Given the description of an element on the screen output the (x, y) to click on. 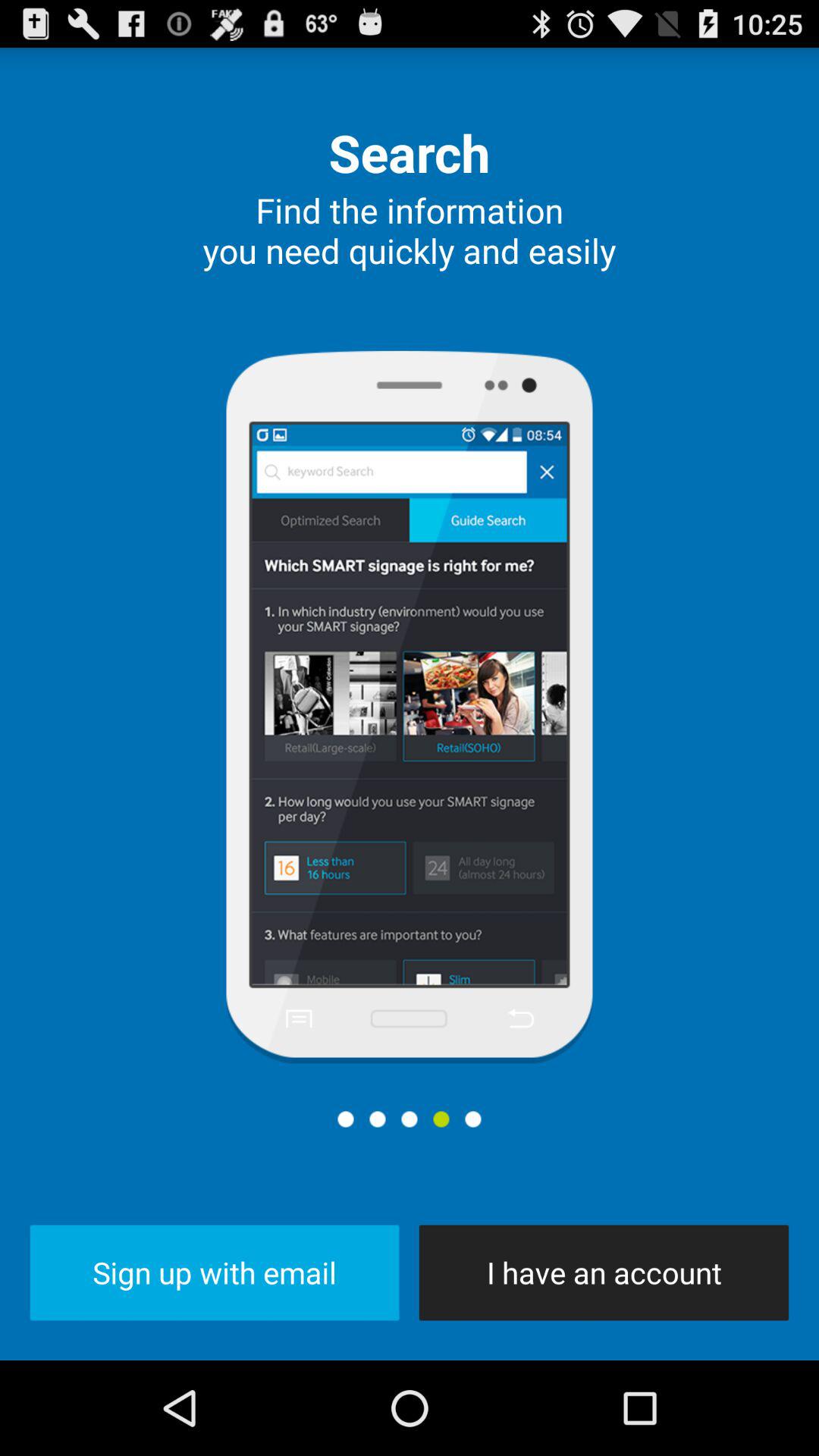
select the i have an (603, 1272)
